Given the description of an element on the screen output the (x, y) to click on. 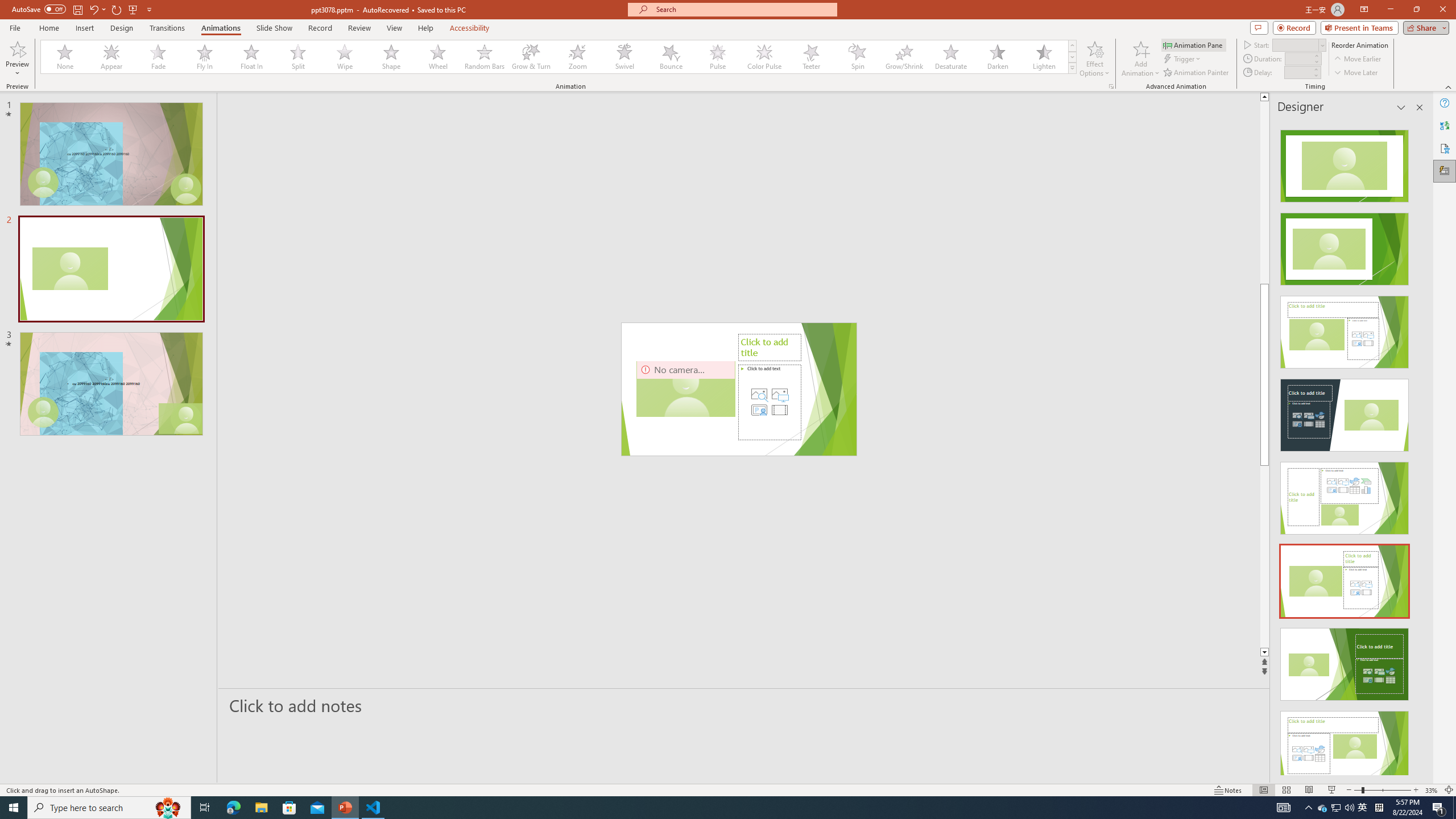
Darken (997, 56)
Preview (17, 48)
Zoom 33% (1431, 790)
Title TextBox (663, 389)
Preview (17, 58)
